Given the description of an element on the screen output the (x, y) to click on. 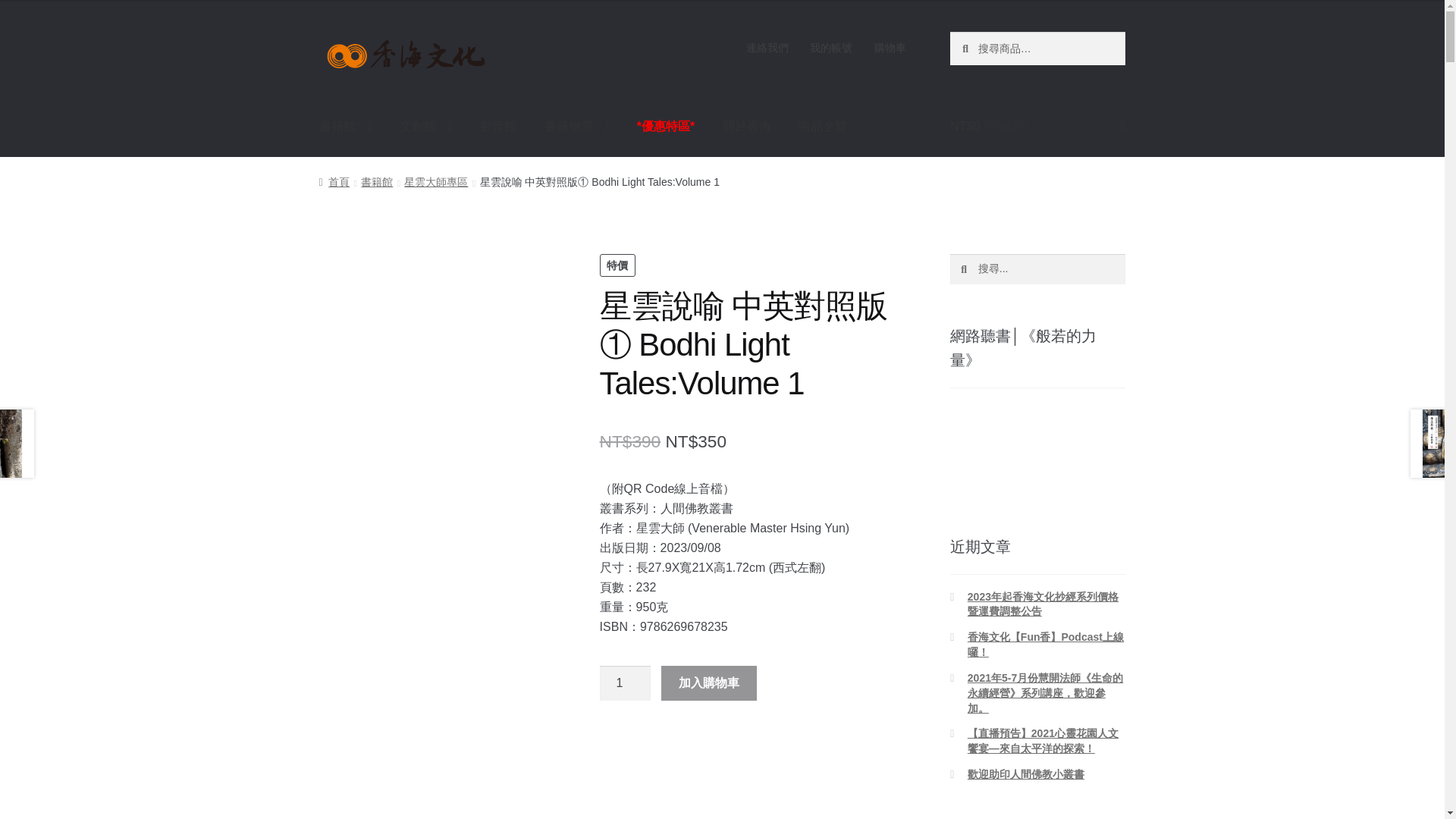
1 (624, 683)
